Given the description of an element on the screen output the (x, y) to click on. 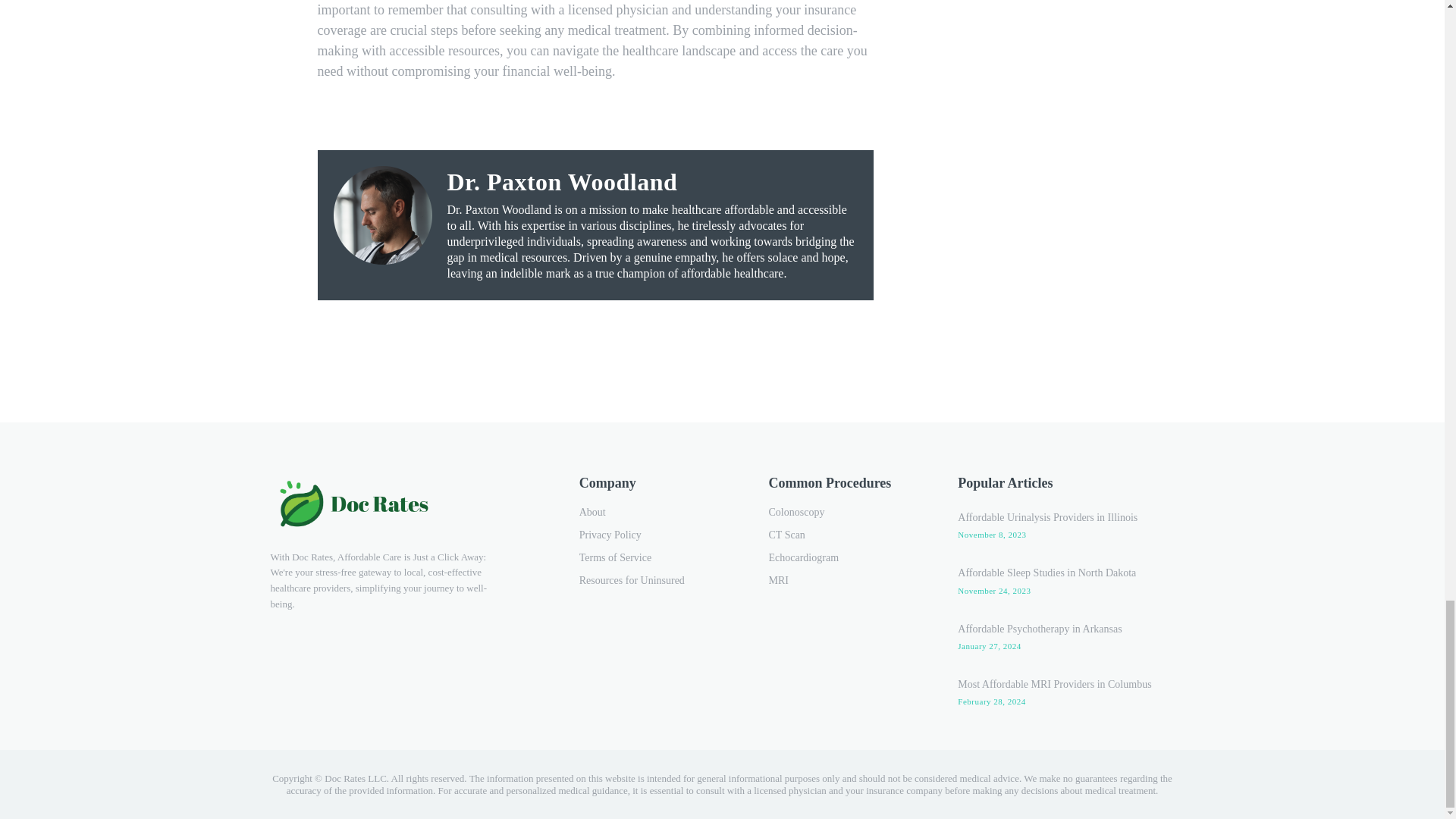
Resources for Uninsured (655, 580)
Most Affordable MRI Providers in Columbus (1054, 684)
Affordable Sleep Studies in North Dakota (1046, 572)
Affordable Urinalysis Providers in Illinois (1047, 517)
MRI (844, 580)
Affordable Psychotherapy in Arkansas (1039, 628)
Colonoscopy (844, 512)
Echocardiogram (844, 558)
Dr. Paxton Woodland (651, 181)
Privacy Policy (655, 535)
About (655, 512)
Affordable Sleep Studies in North Dakota (1046, 572)
Affordable Urinalysis Providers in Illinois (1047, 517)
Terms of Service (655, 558)
CT Scan (844, 535)
